Given the description of an element on the screen output the (x, y) to click on. 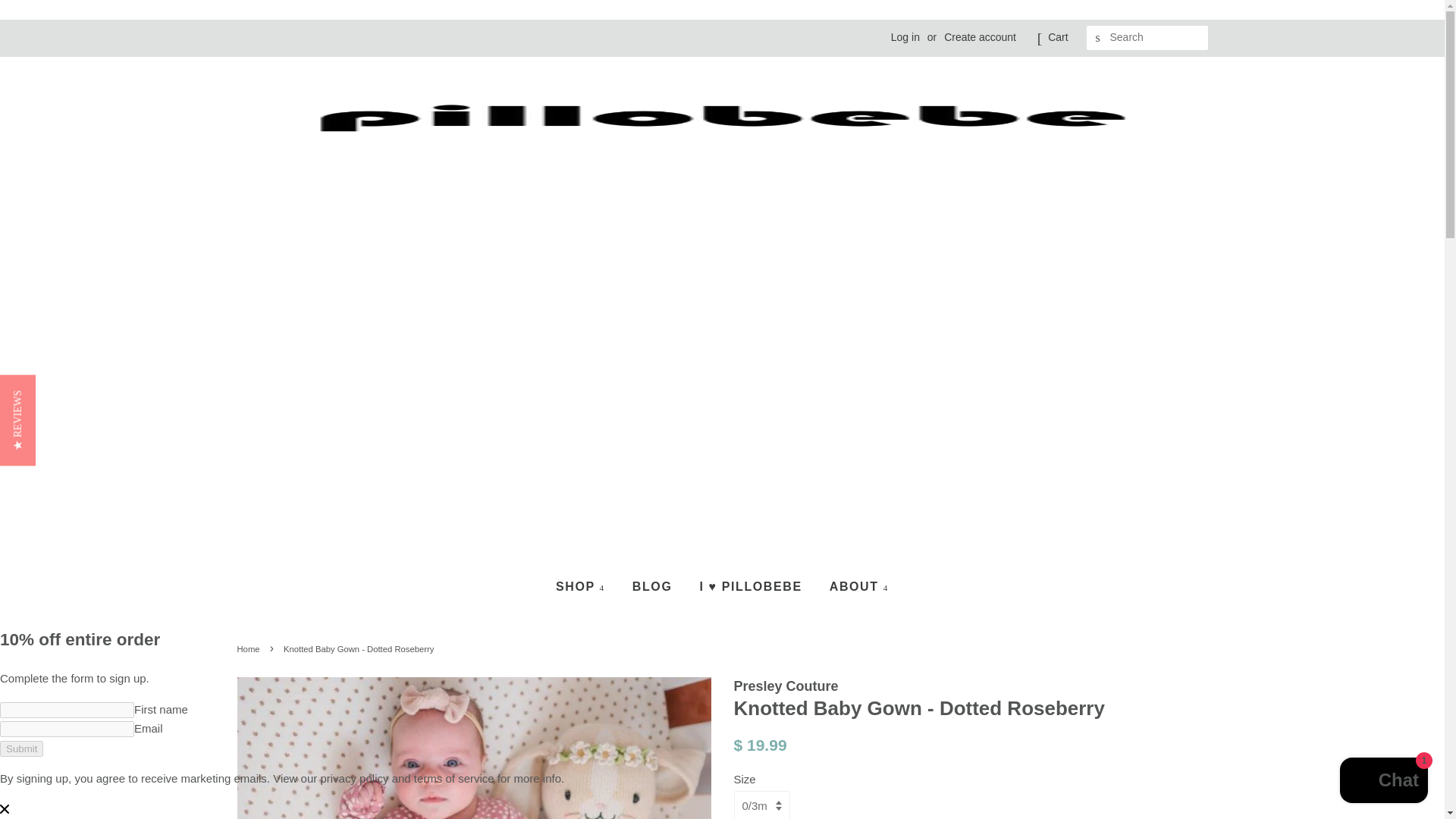
SHOP (585, 586)
SEARCH (1097, 37)
Cart (1057, 37)
Shopify online store chat (1383, 781)
Create account (979, 37)
Log in (905, 37)
Back to the frontpage (249, 648)
